Given the description of an element on the screen output the (x, y) to click on. 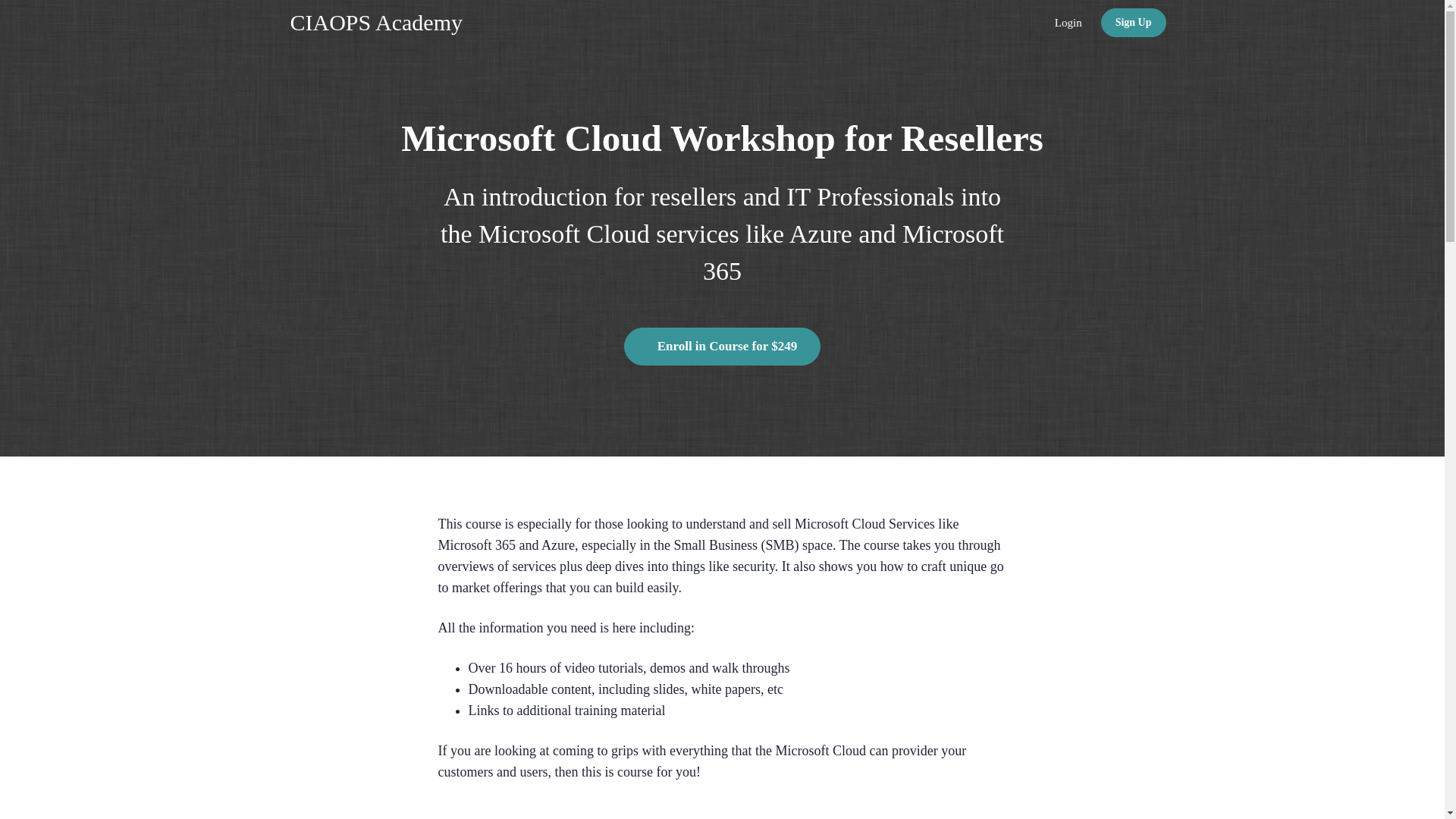
CIAOPS Academy (376, 22)
Sign Up (1133, 22)
Login (1068, 22)
